Given the description of an element on the screen output the (x, y) to click on. 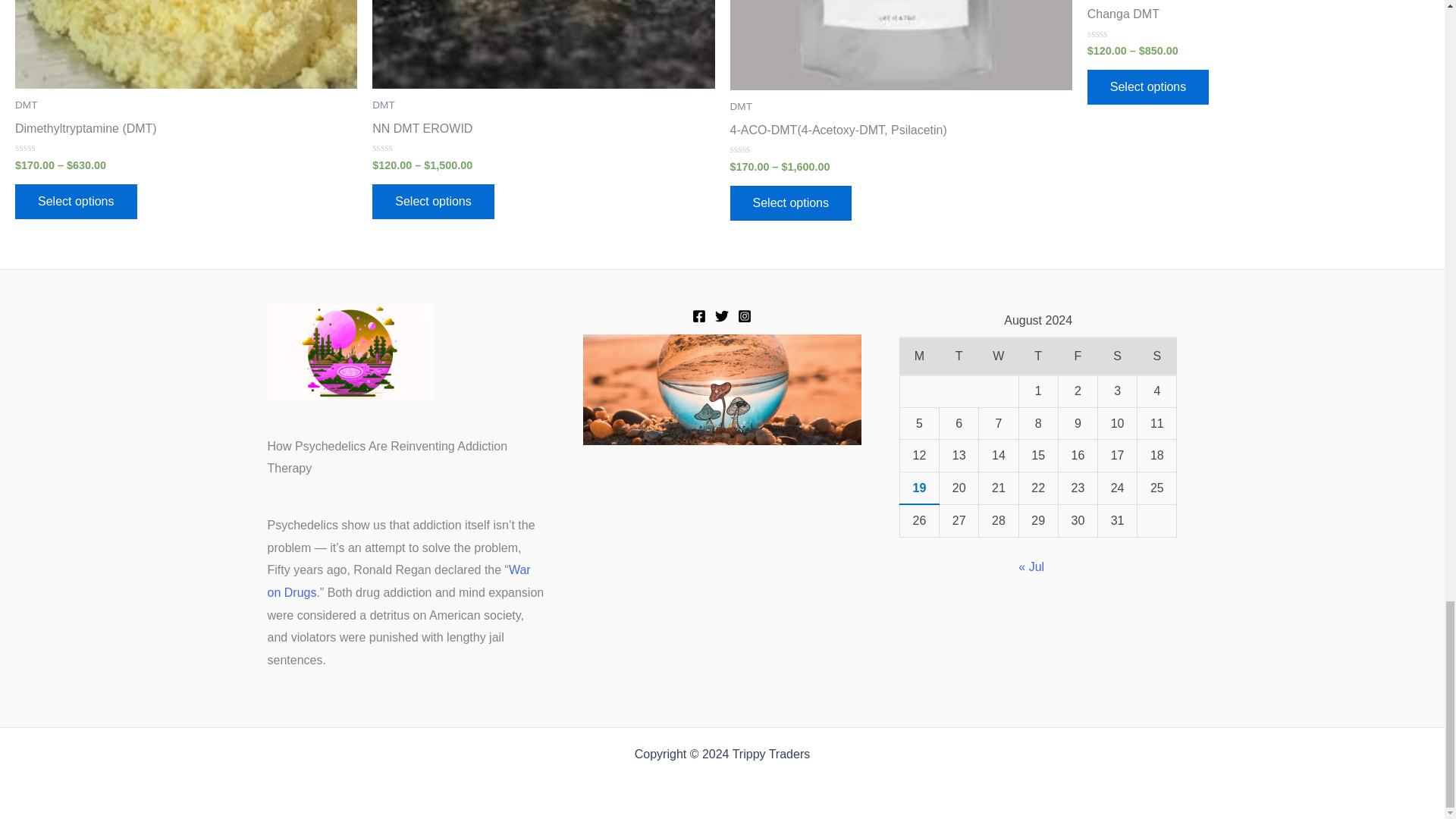
Sunday (1156, 356)
Monday (919, 356)
Wednesday (997, 356)
Tuesday (958, 356)
Saturday (1117, 356)
Thursday (1037, 356)
Friday (1077, 356)
